Given the description of an element on the screen output the (x, y) to click on. 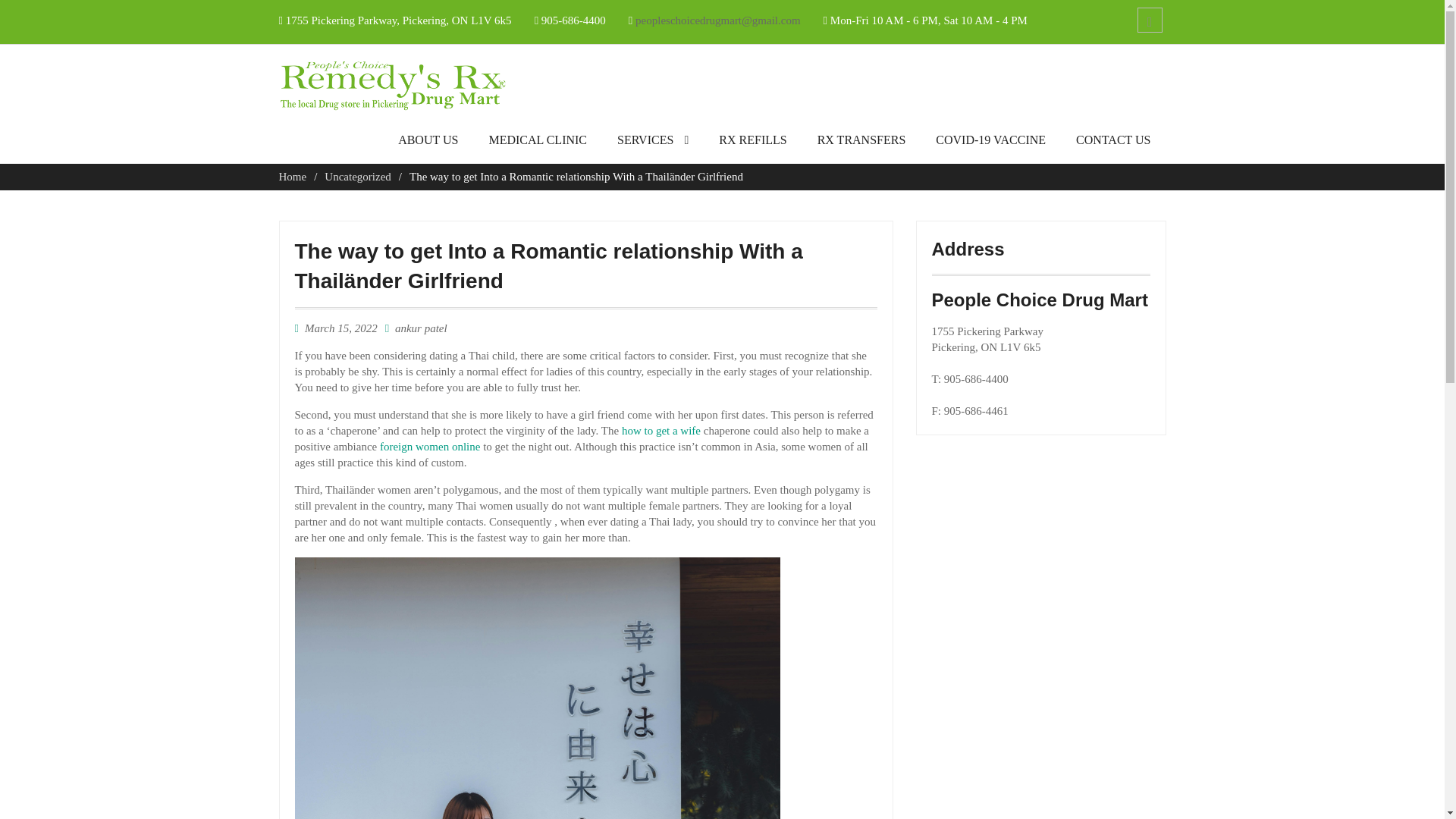
COVID-19 VACCINE (990, 143)
ABOUT US (427, 143)
SERVICES (652, 143)
how to get a wife (660, 430)
Uncategorized (357, 176)
RX REFILLS (752, 143)
foreign women online (430, 446)
FB (1149, 19)
ankur patel (420, 328)
MEDICAL CLINIC (537, 143)
